Given the description of an element on the screen output the (x, y) to click on. 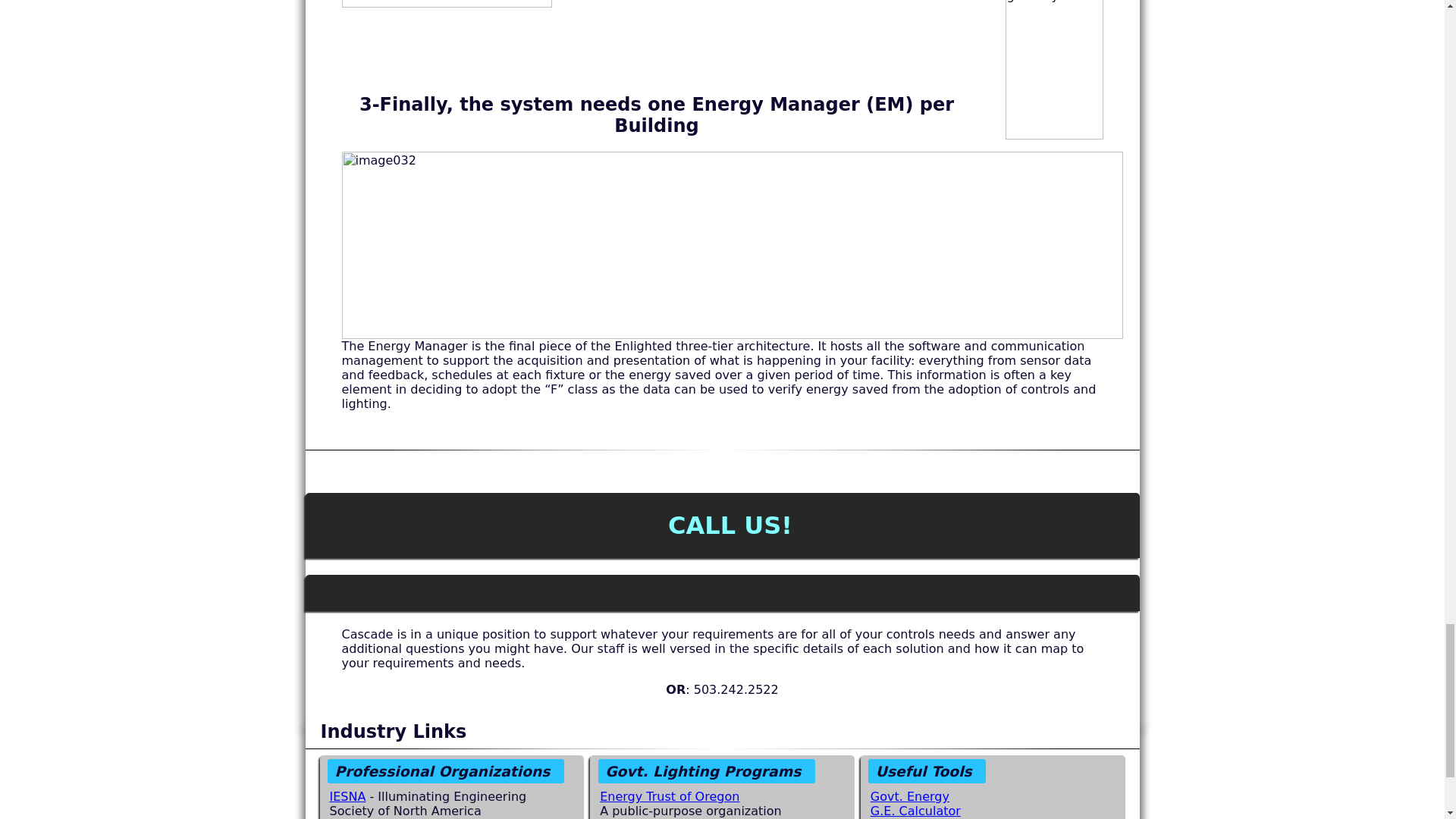
Govt. Energy (909, 796)
Energy Trust of Oregon (669, 796)
IESNA (347, 796)
G.E. Calculator (915, 810)
